Given the description of an element on the screen output the (x, y) to click on. 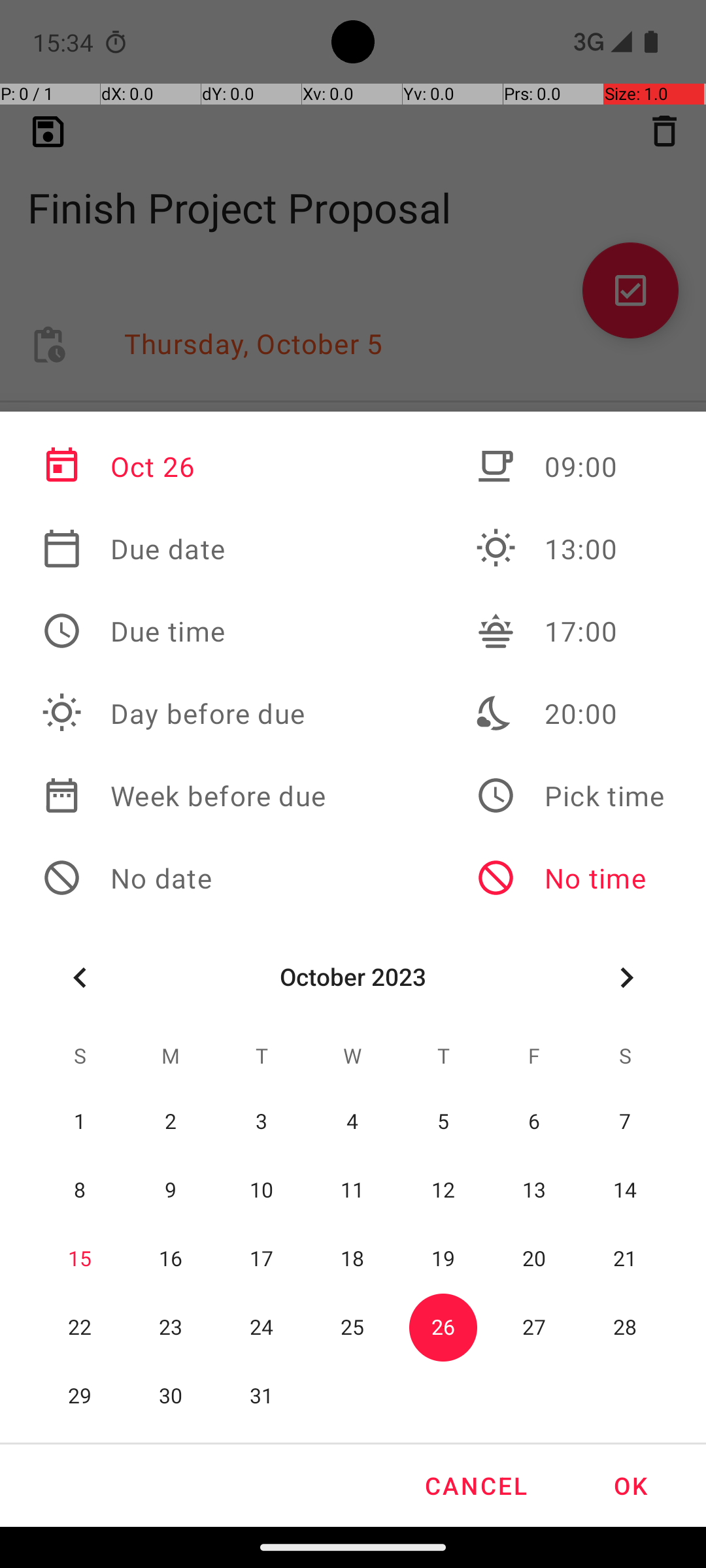
Oct 26 Element type: android.widget.CompoundButton (183, 466)
